Given the description of an element on the screen output the (x, y) to click on. 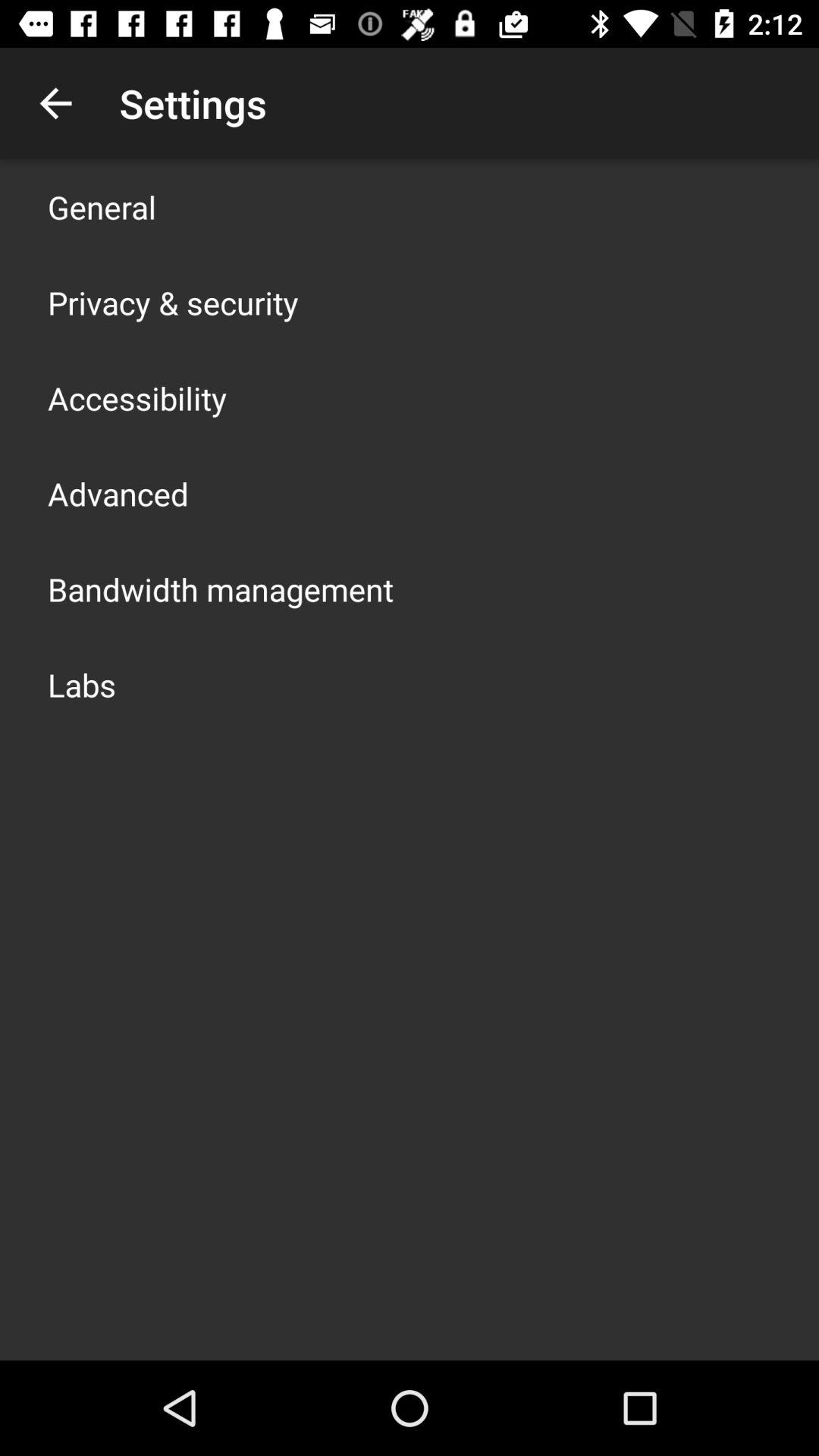
jump to accessibility (136, 397)
